Given the description of an element on the screen output the (x, y) to click on. 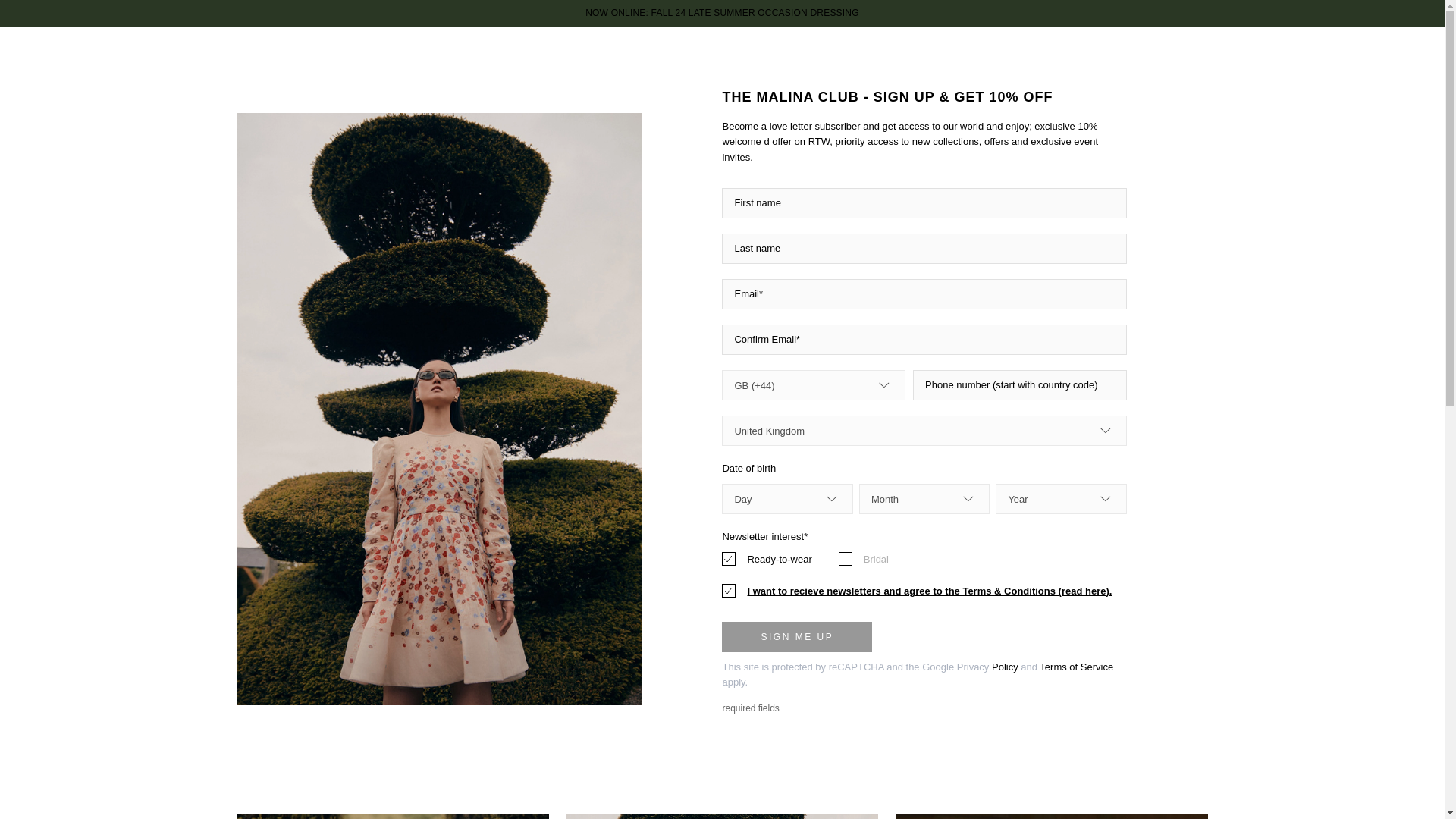
Privacy (973, 666)
NOW ONLINE: FALL 24 LATE SUMMER OCCASION DRESSING (722, 12)
SIGN ME UP (797, 636)
Terms (1052, 666)
